Given the description of an element on the screen output the (x, y) to click on. 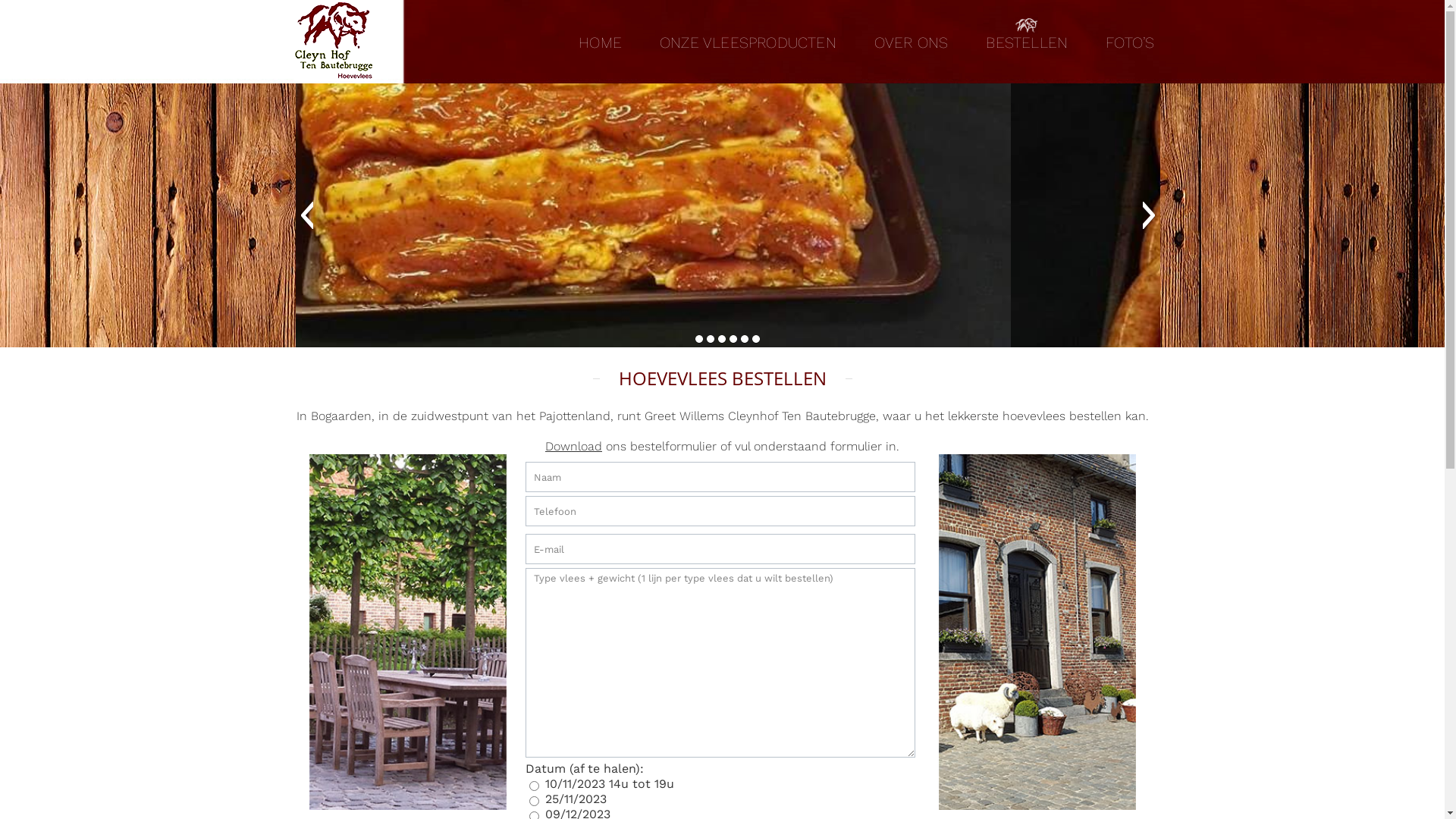
ONZE VLEESPRODUCTEN Element type: text (747, 42)
BESTELLEN Element type: text (1026, 42)
OVER ONS Element type: text (911, 42)
HOME Element type: text (599, 42)
